Given the description of an element on the screen output the (x, y) to click on. 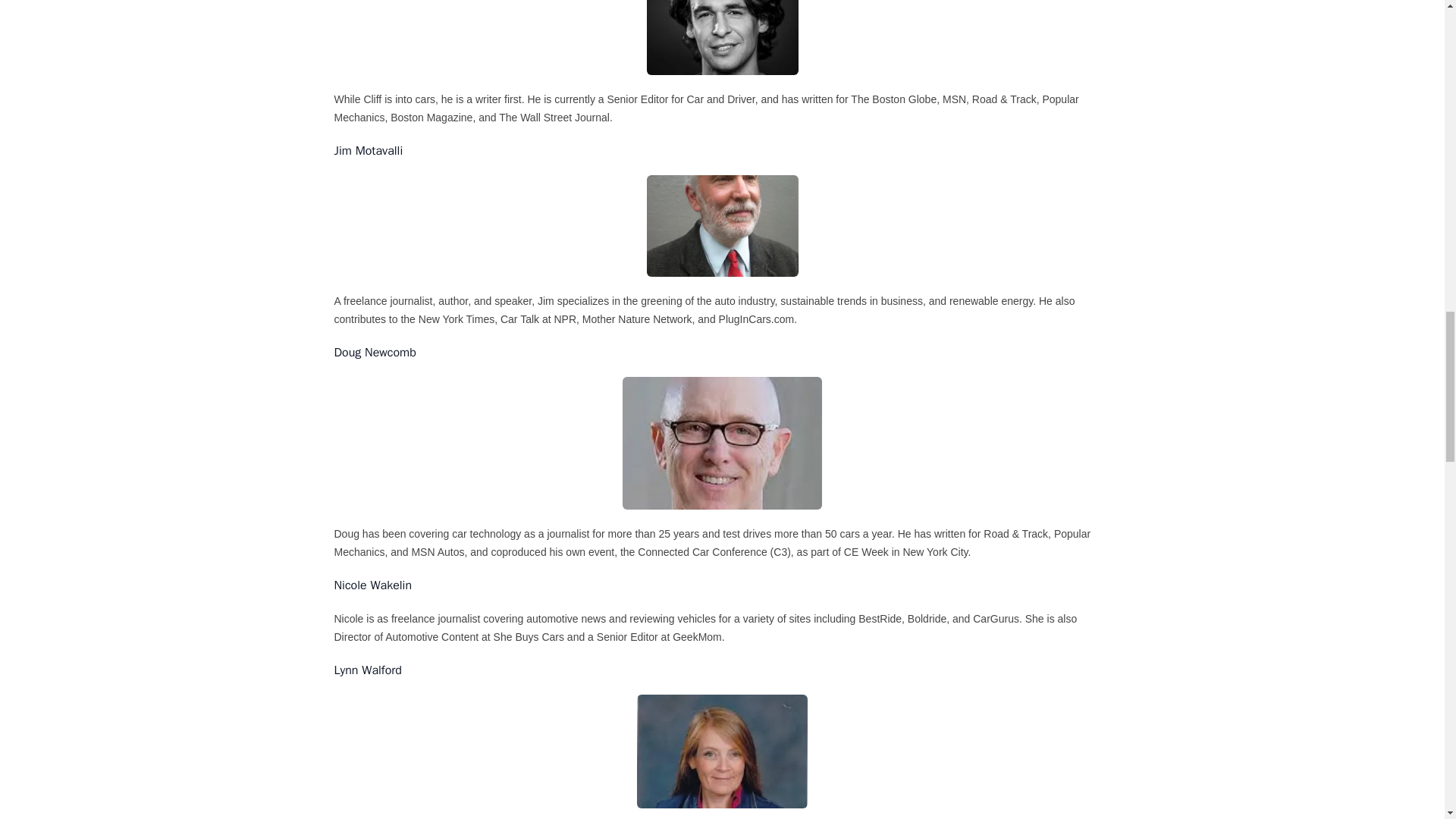
doug-newcomb.jpg (722, 442)
jim-motavalli.png (721, 225)
lynn-walford.jpg (722, 751)
clifford-atiyeh.png (721, 37)
